Given the description of an element on the screen output the (x, y) to click on. 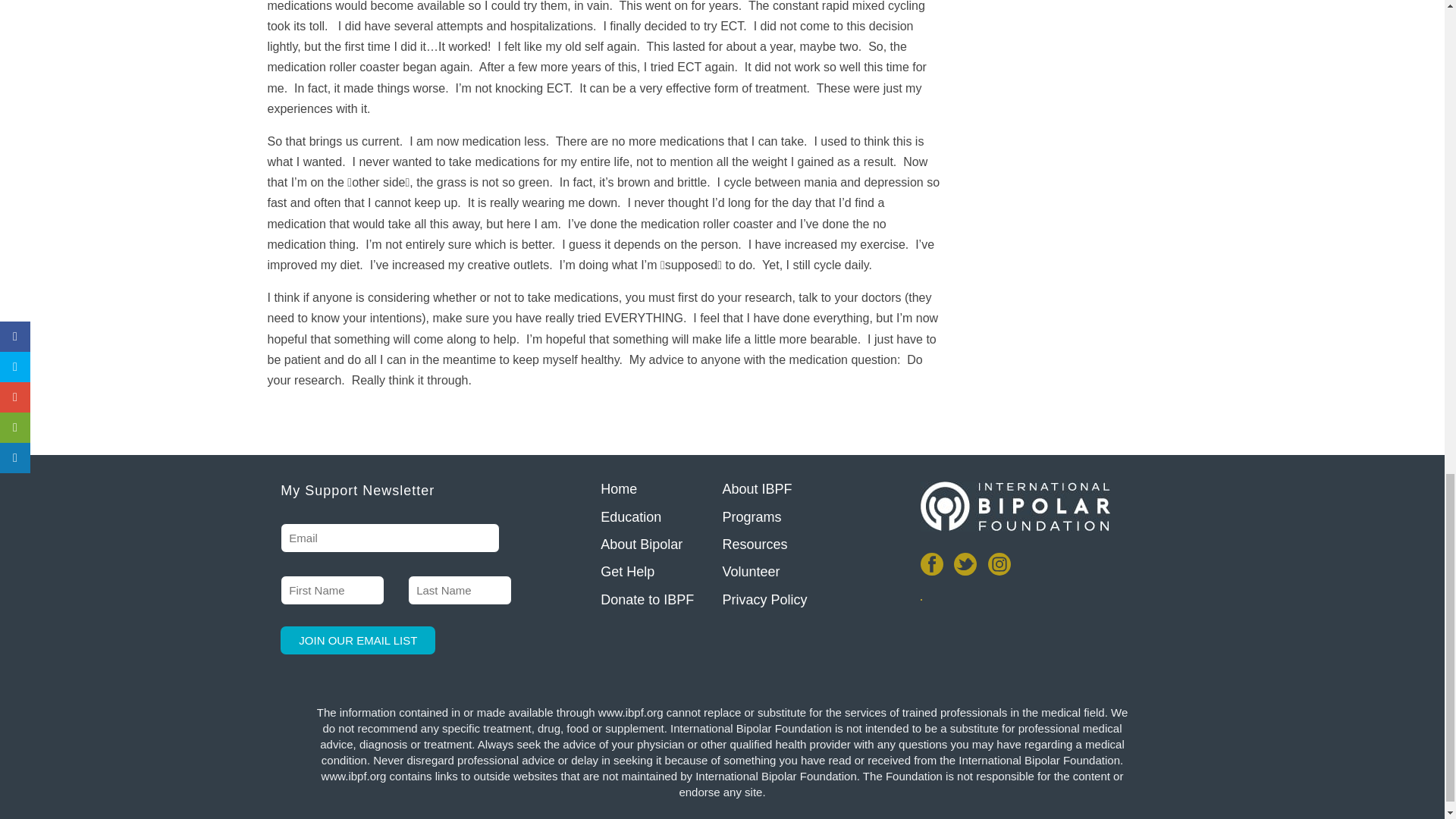
Join Our Email List (358, 640)
